Given the description of an element on the screen output the (x, y) to click on. 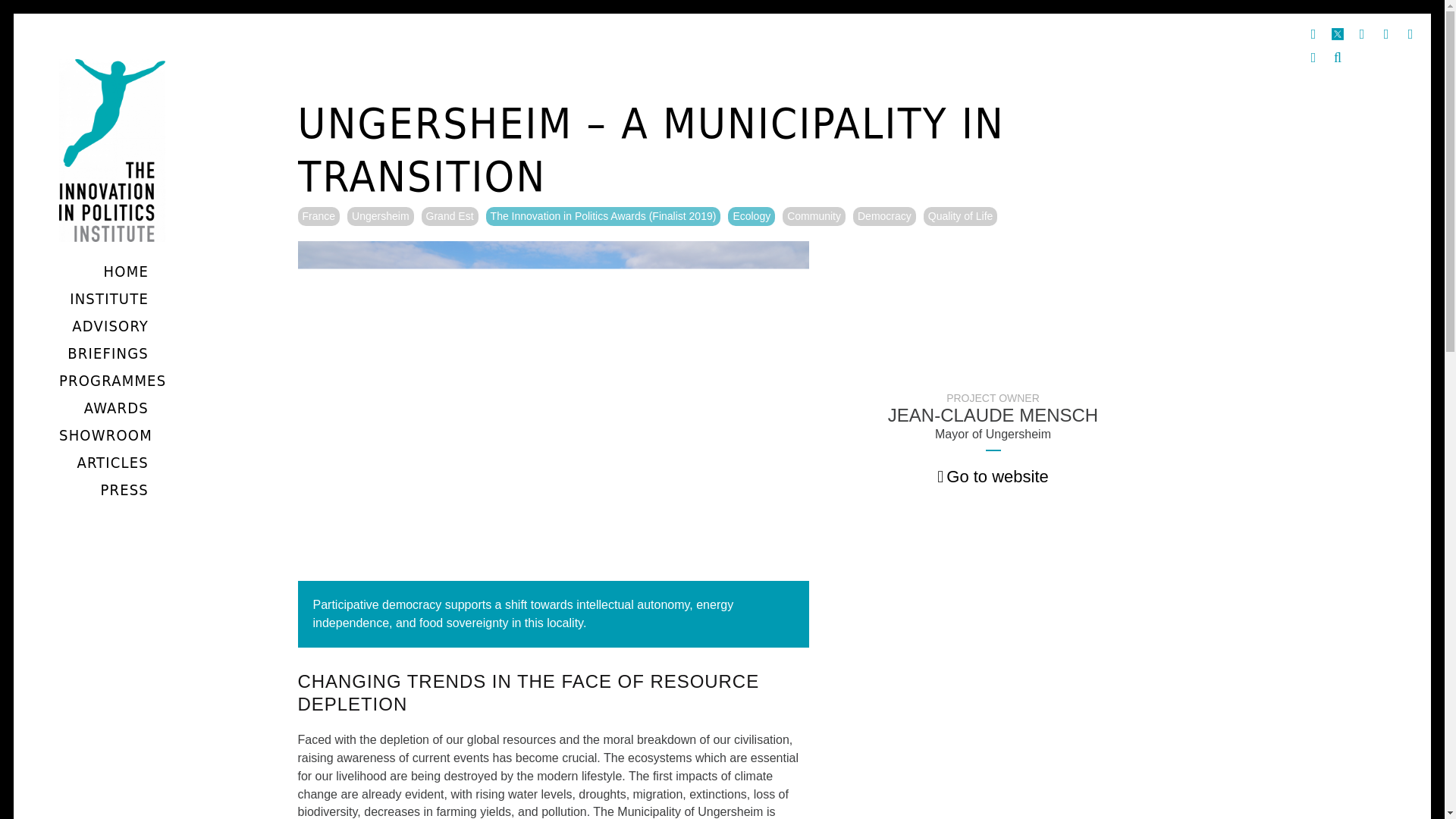
ADVISORY (109, 325)
AWARDS (115, 407)
HOME (125, 271)
THE INNOVATION IN POLITICS INSTITUTE (147, 309)
INSTITUTE (108, 298)
PROGRAMMES (111, 380)
Search (1337, 57)
BRIEFINGS (107, 352)
